Given the description of an element on the screen output the (x, y) to click on. 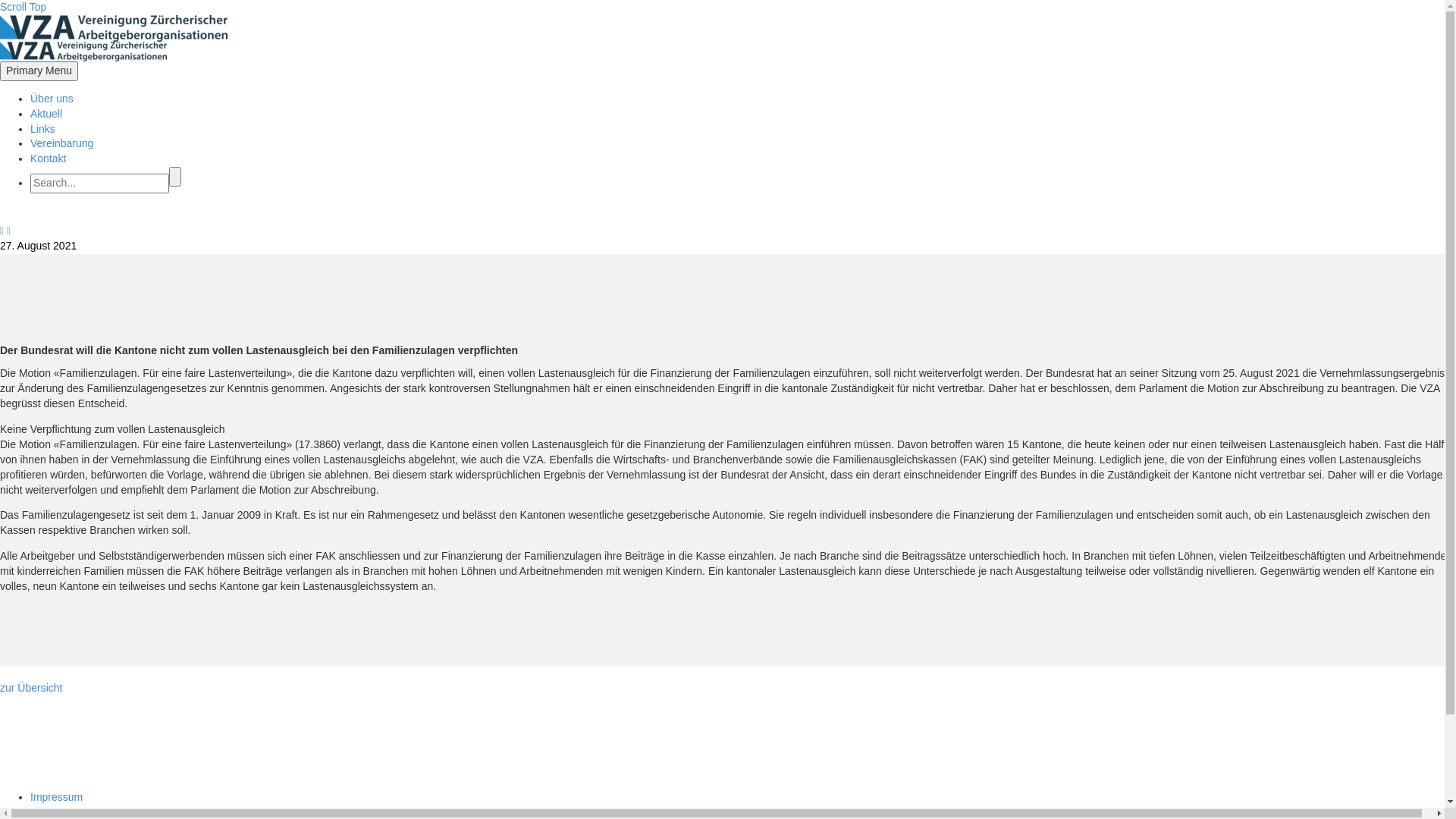
Vereinbarung Element type: text (61, 143)
Impressum Element type: text (56, 796)
Datenschutz Element type: text (59, 812)
Aktuell Element type: text (46, 113)
Primary Menu Element type: text (39, 71)
Scroll Top Element type: text (23, 6)
Kontakt Element type: text (47, 158)
Links Element type: text (42, 128)
